Given the description of an element on the screen output the (x, y) to click on. 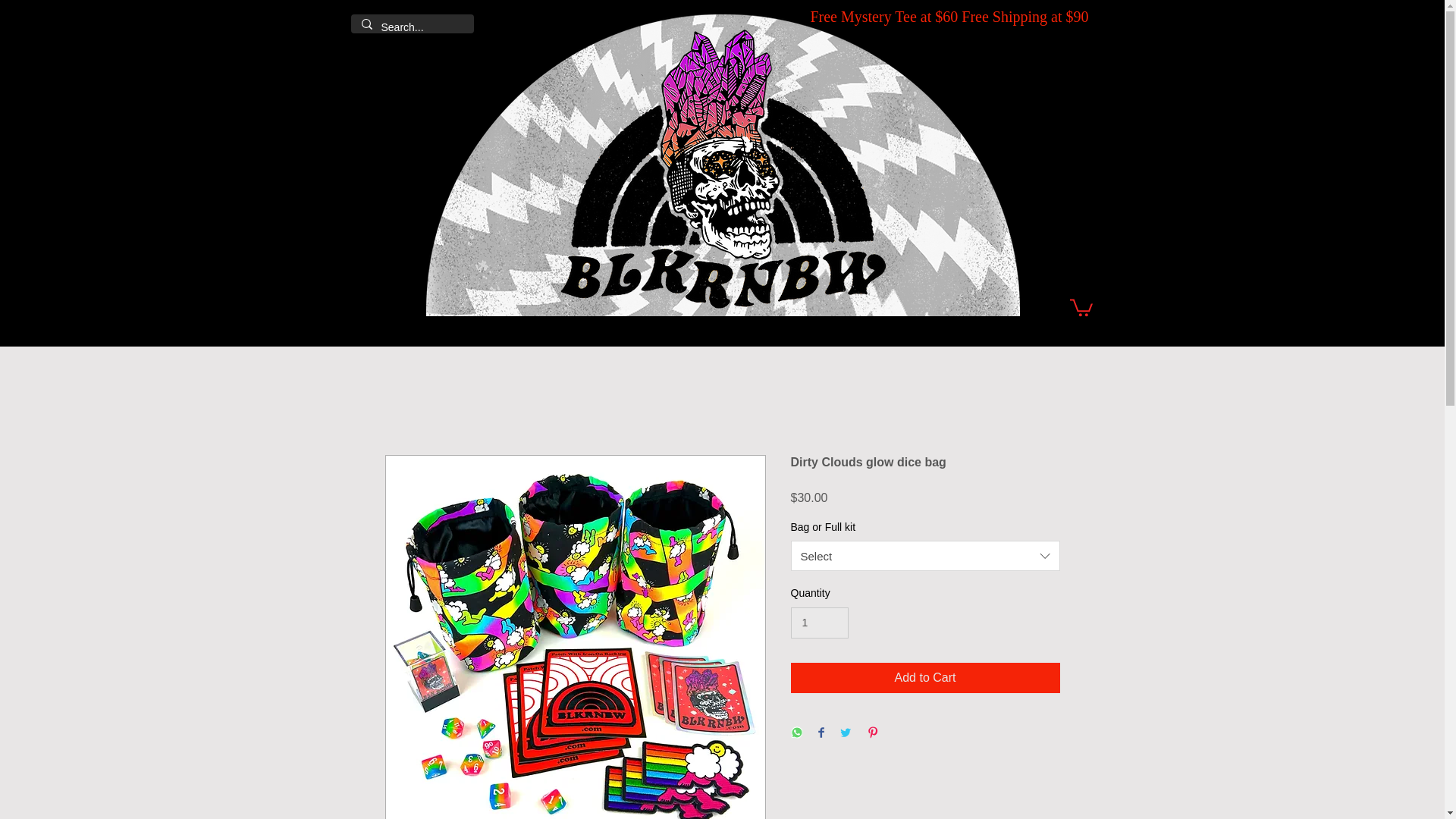
Add to Cart (924, 677)
Select (924, 555)
1 (818, 622)
